Given the description of an element on the screen output the (x, y) to click on. 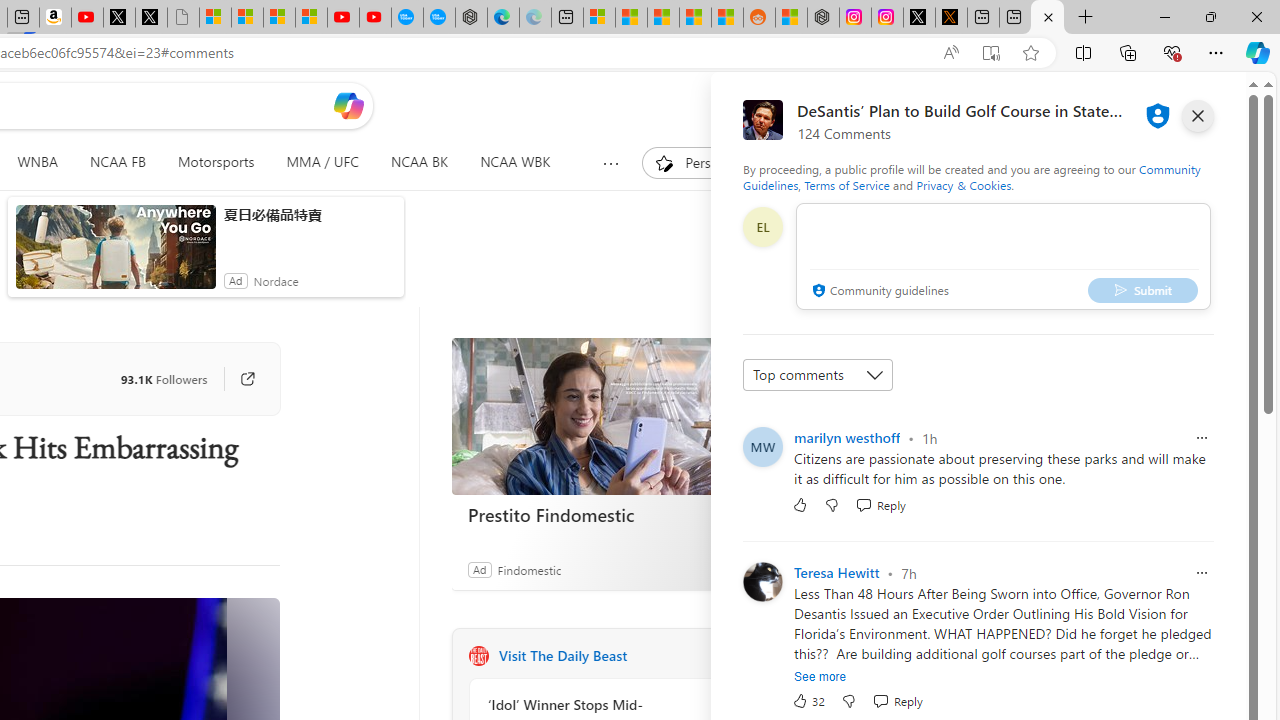
Gloom - YouTube (343, 17)
Prestito Findomestic (601, 416)
Personalize (703, 162)
Enter Immersive Reader (F9) (991, 53)
Notifications (1176, 105)
MMA / UFC (322, 162)
Terms of Service (846, 184)
NCAA BK (418, 162)
Privacy & Cookies (964, 184)
Reply Reply Comment (897, 700)
close (1197, 115)
